Given the description of an element on the screen output the (x, y) to click on. 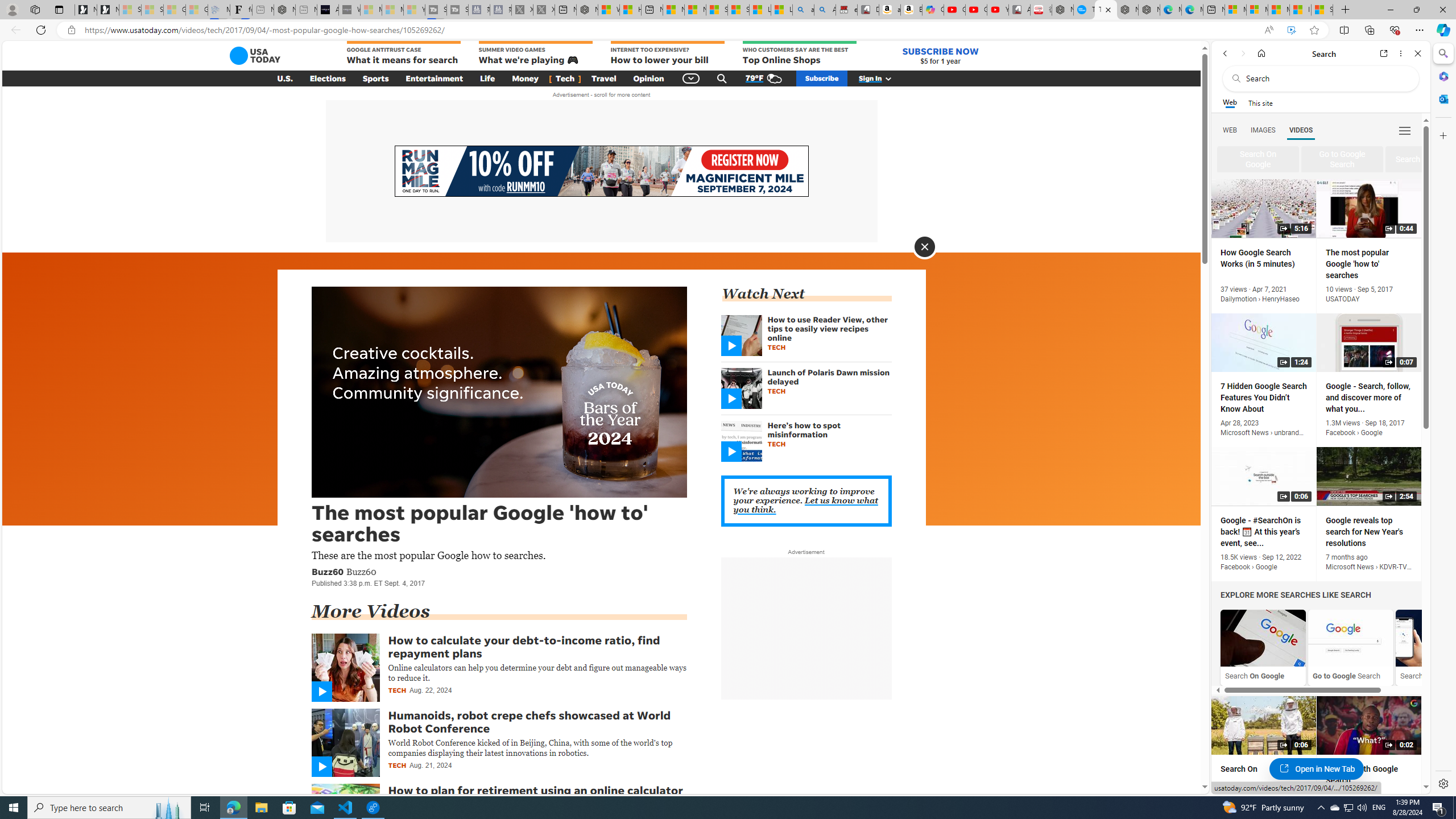
Global Navigation (691, 78)
AutomationID: aw0 (601, 171)
Class: gnt_n_dd_bt_svg (691, 78)
Microsoft Start Sports - Sleeping (371, 9)
Class: gnt_n_se_a_svg (721, 78)
